Given the description of an element on the screen output the (x, y) to click on. 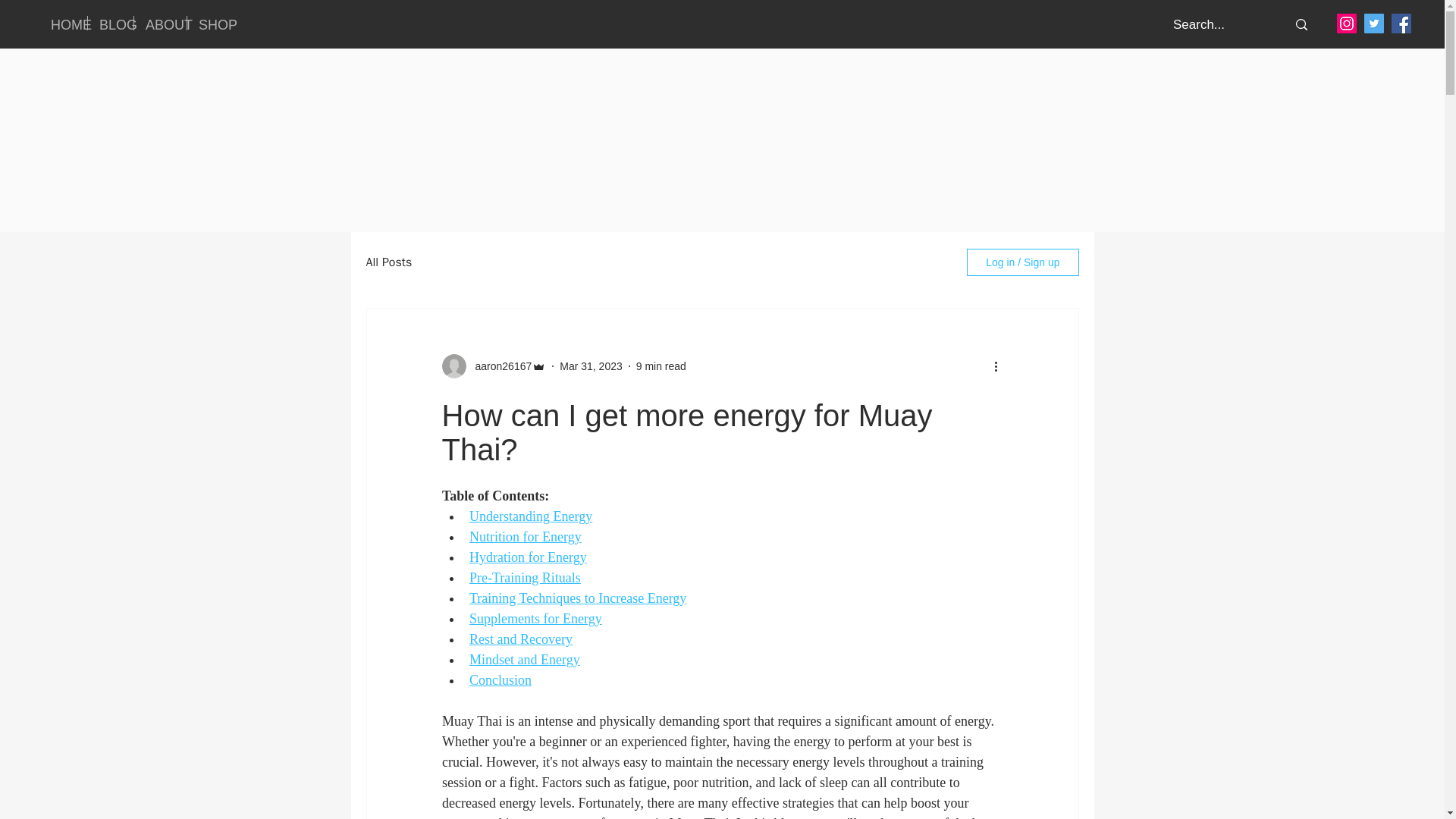
Nutrition for Energy (524, 536)
Mindset and Energy (523, 659)
Supplements for Energy (534, 618)
SHOP (209, 22)
Mar 31, 2023 (591, 365)
Training Techniques to Increase Energy (576, 598)
All Posts (388, 262)
ABOUT (159, 22)
HOME (63, 22)
Rest and Recovery (520, 639)
BLOG (110, 22)
Conclusion (499, 679)
Pre-Training Rituals (523, 577)
Hydration for Energy (527, 557)
aaron26167 (498, 365)
